Given the description of an element on the screen output the (x, y) to click on. 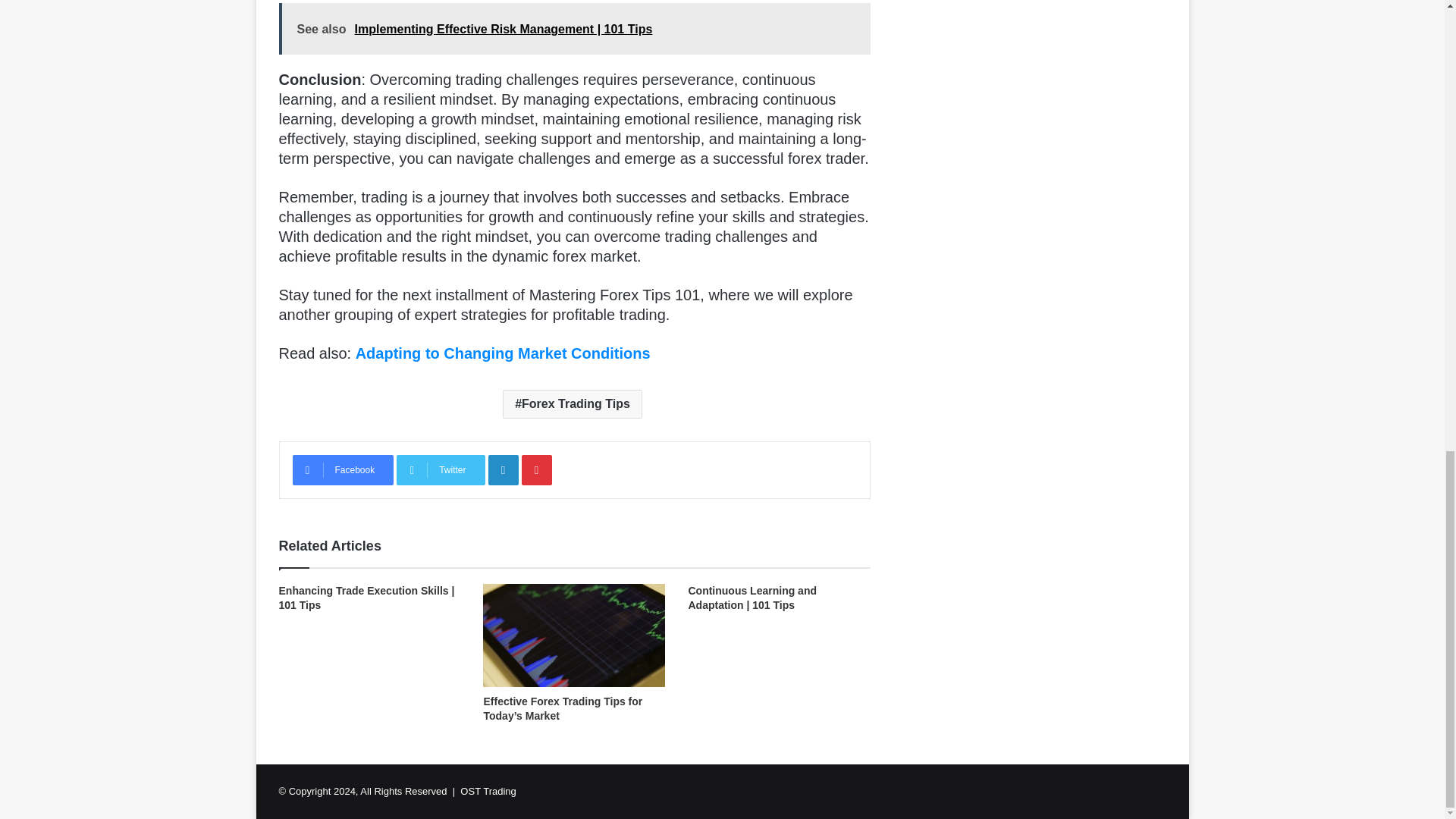
Pinterest (536, 470)
Twitter (440, 470)
Facebook (343, 470)
Facebook (343, 470)
Twitter (440, 470)
Adapting to Changing Market Conditions (502, 352)
LinkedIn (502, 470)
LinkedIn (502, 470)
Pinterest (536, 470)
Forex Trading Tips (572, 403)
